Given the description of an element on the screen output the (x, y) to click on. 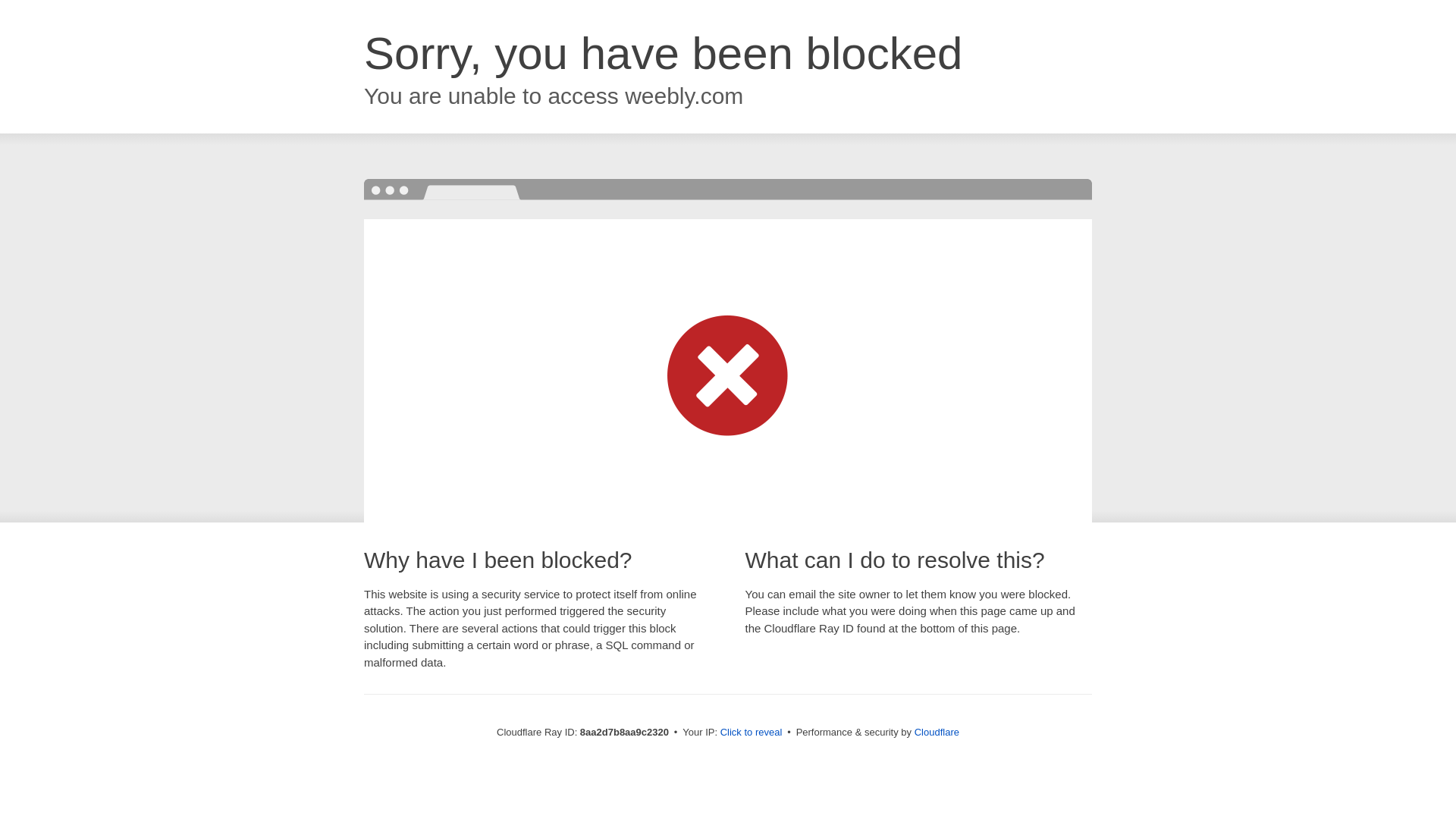
Click to reveal (751, 732)
Cloudflare (936, 731)
